Given the description of an element on the screen output the (x, y) to click on. 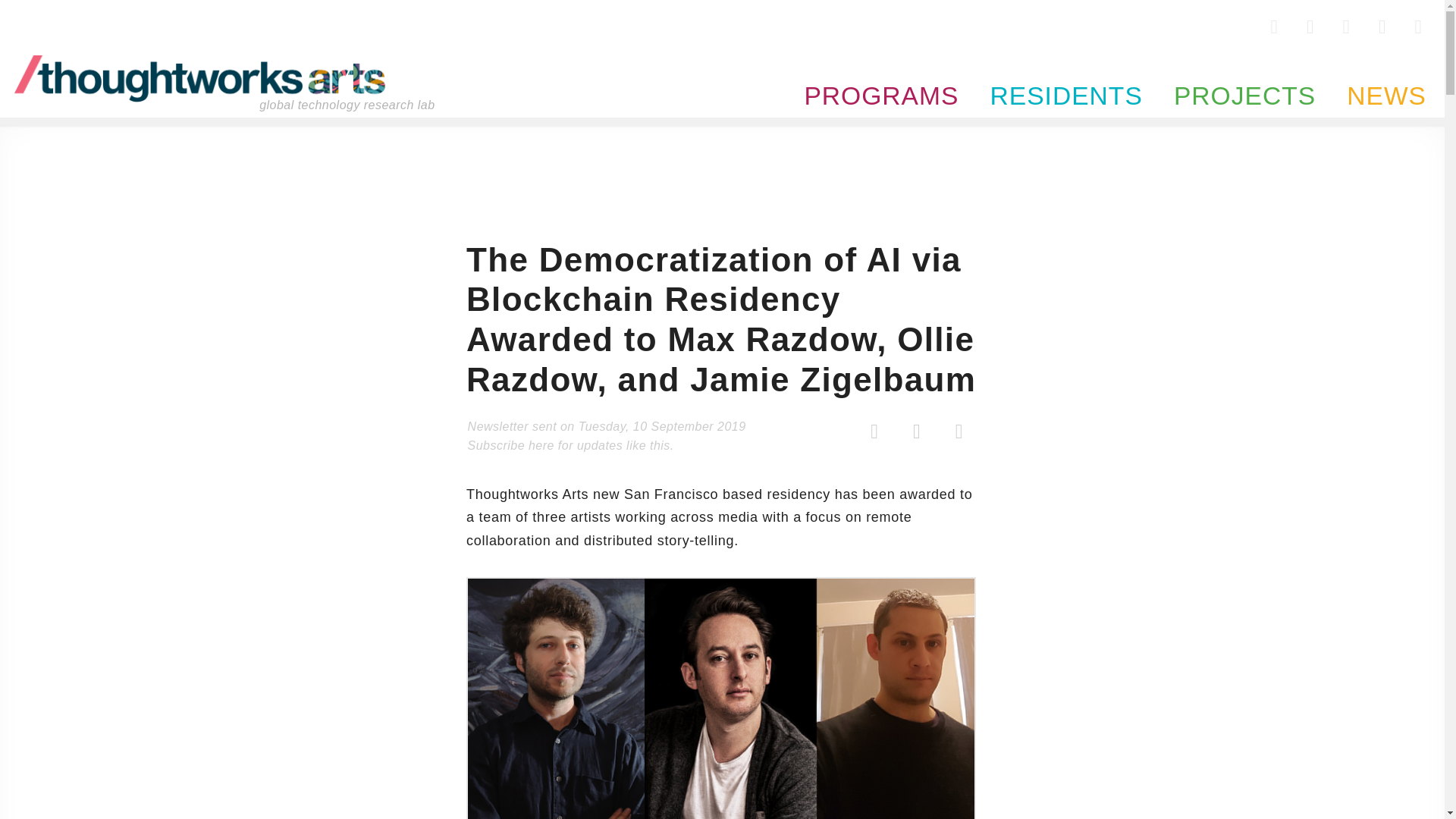
PROGRAMS (875, 74)
Subscribe here for updates like this (568, 445)
NEWS (1376, 74)
PROJECTS (1237, 74)
RESIDENTS (1059, 74)
global technology research lab (200, 78)
